Given the description of an element on the screen output the (x, y) to click on. 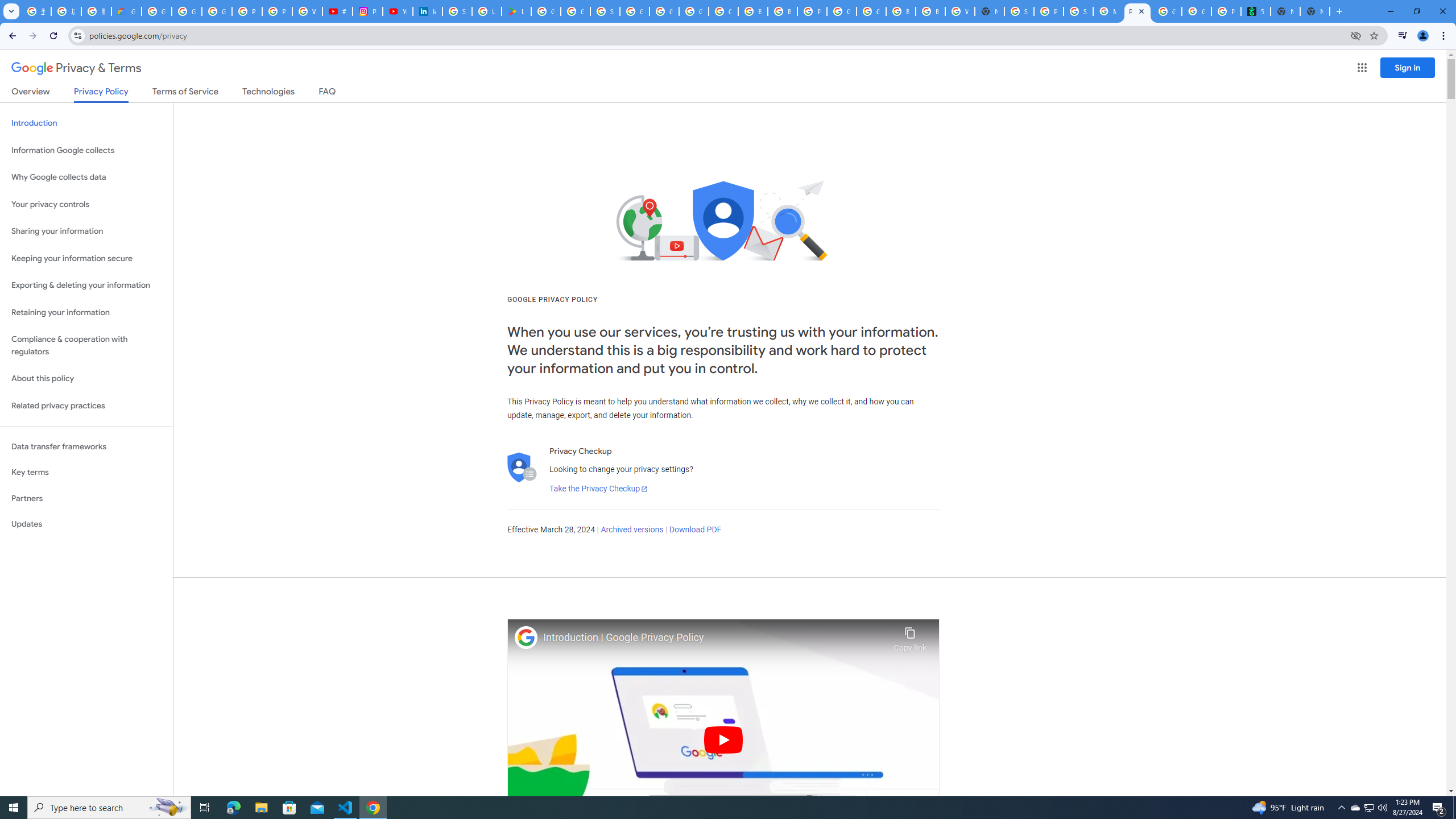
Copy link (909, 636)
New Tab (1314, 11)
New Tab (989, 11)
